Given the description of an element on the screen output the (x, y) to click on. 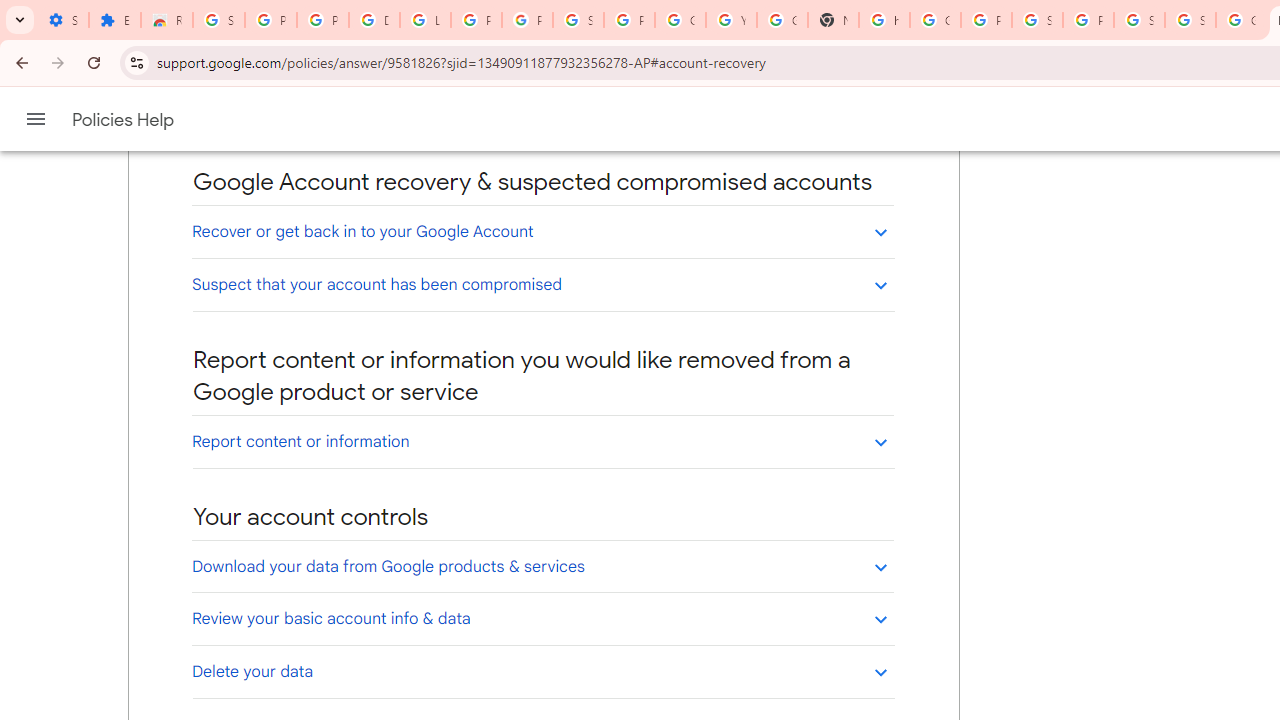
Reviews: Helix Fruit Jump Arcade Game (166, 20)
Sign in - Google Accounts (1037, 20)
Review your basic account info & data (542, 618)
YouTube (731, 20)
Sign in - Google Accounts (218, 20)
